Given the description of an element on the screen output the (x, y) to click on. 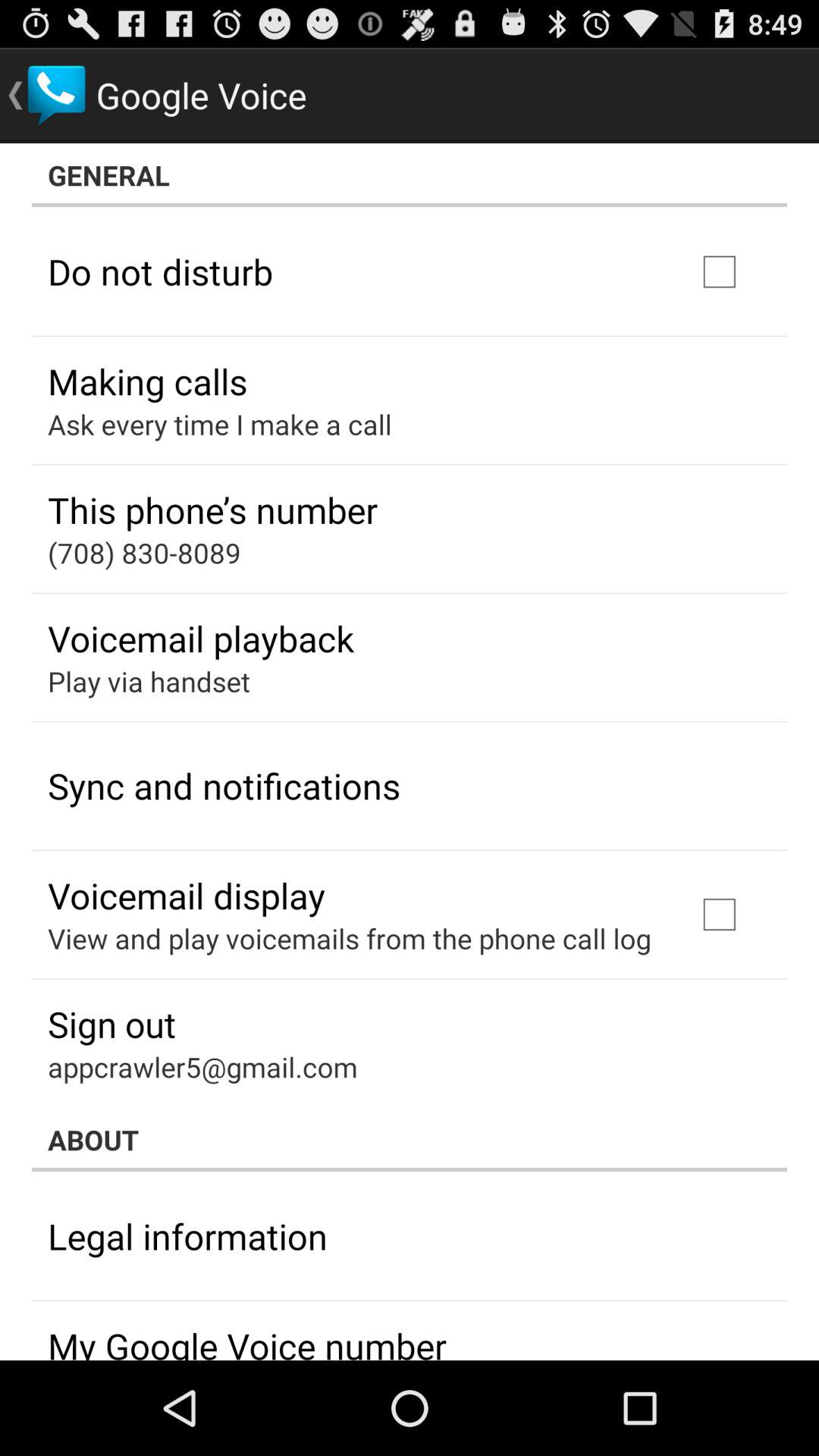
scroll until the sync and notifications icon (223, 785)
